Given the description of an element on the screen output the (x, y) to click on. 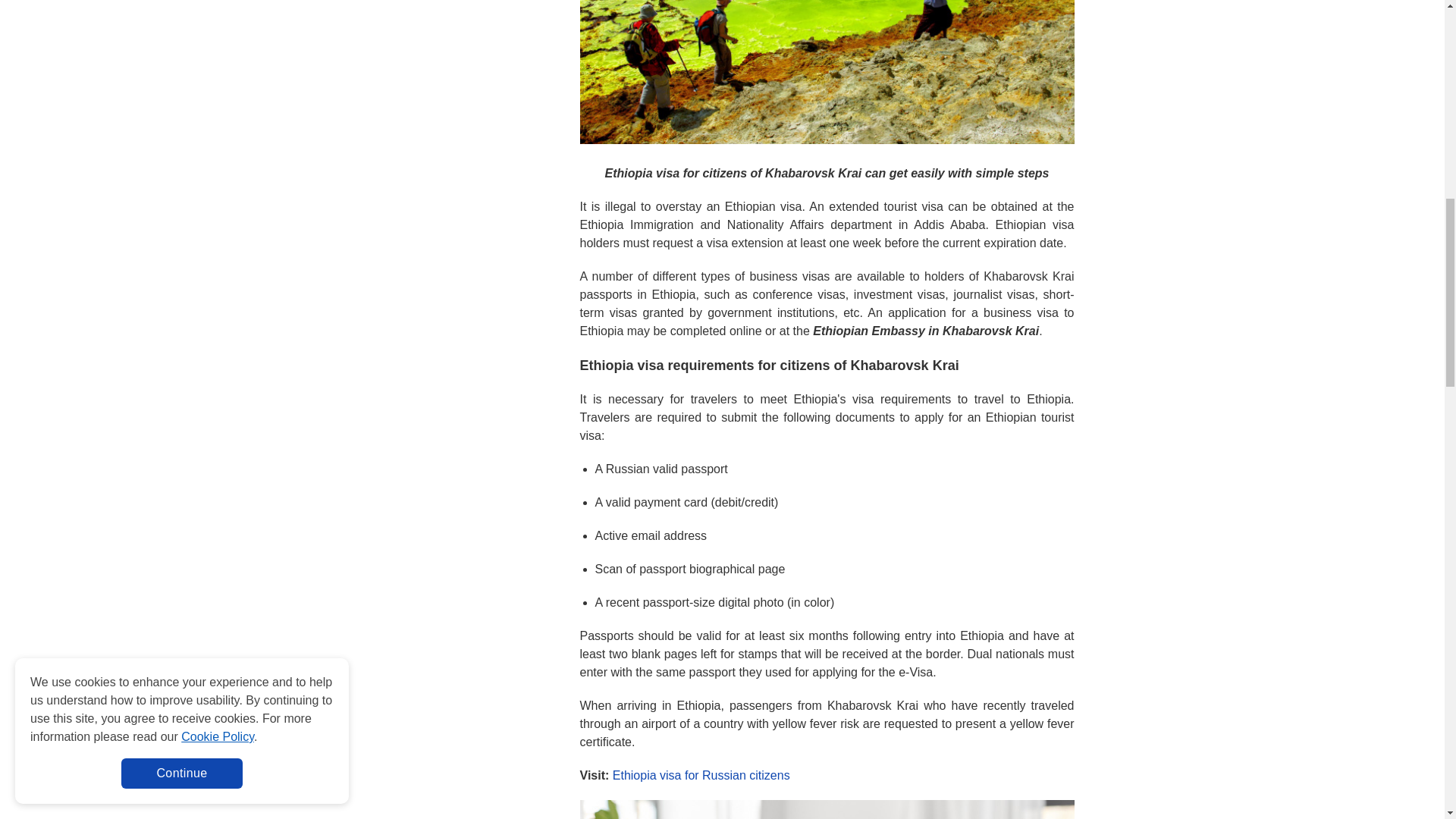
Ethiopia visa for Russian citizens (701, 775)
